Given the description of an element on the screen output the (x, y) to click on. 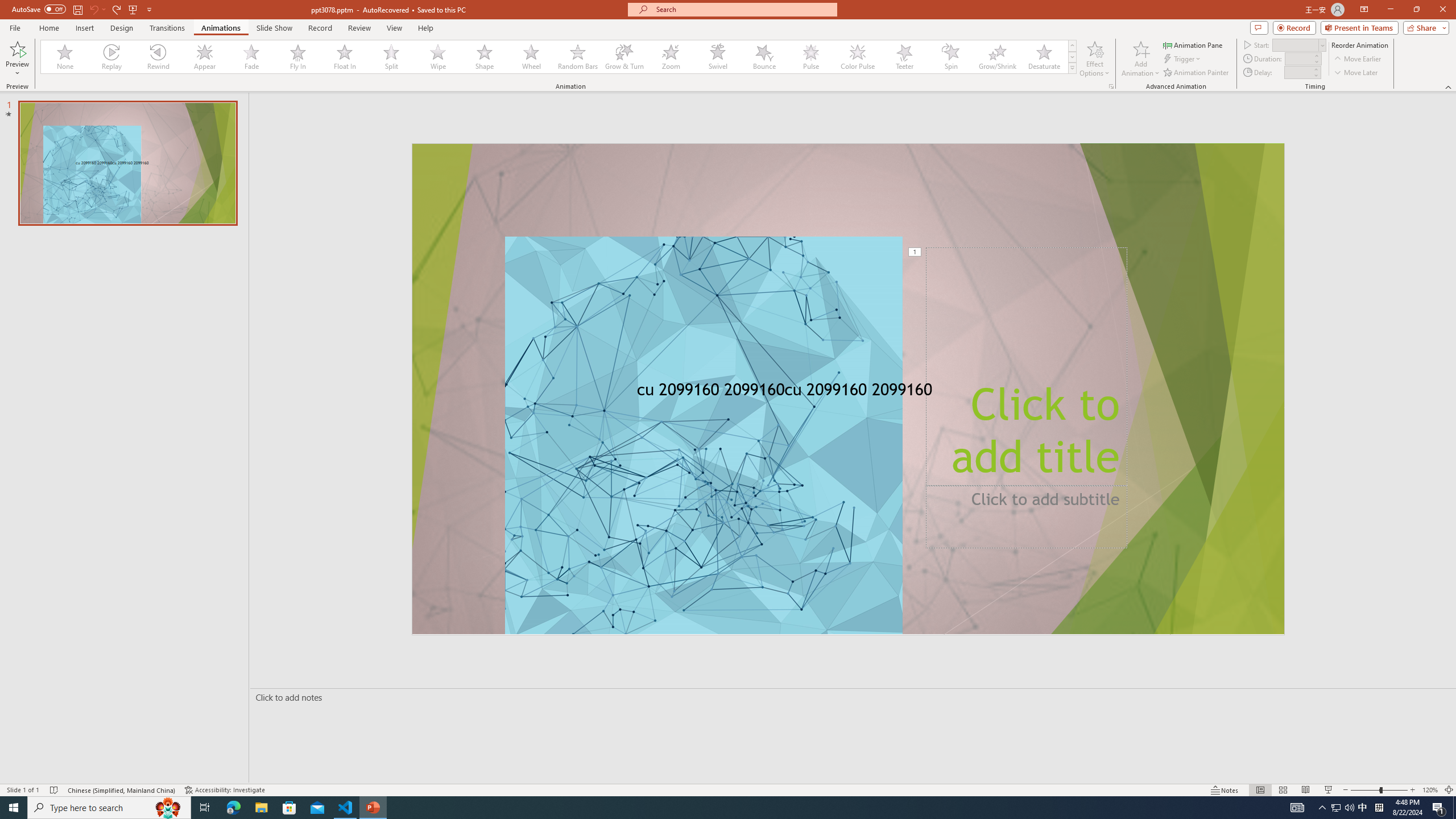
Start (1299, 44)
Color Pulse (857, 56)
Float In (344, 56)
Teeter (903, 56)
Preview (17, 58)
Less (1315, 75)
Wheel (531, 56)
More Options... (1110, 85)
